Given the description of an element on the screen output the (x, y) to click on. 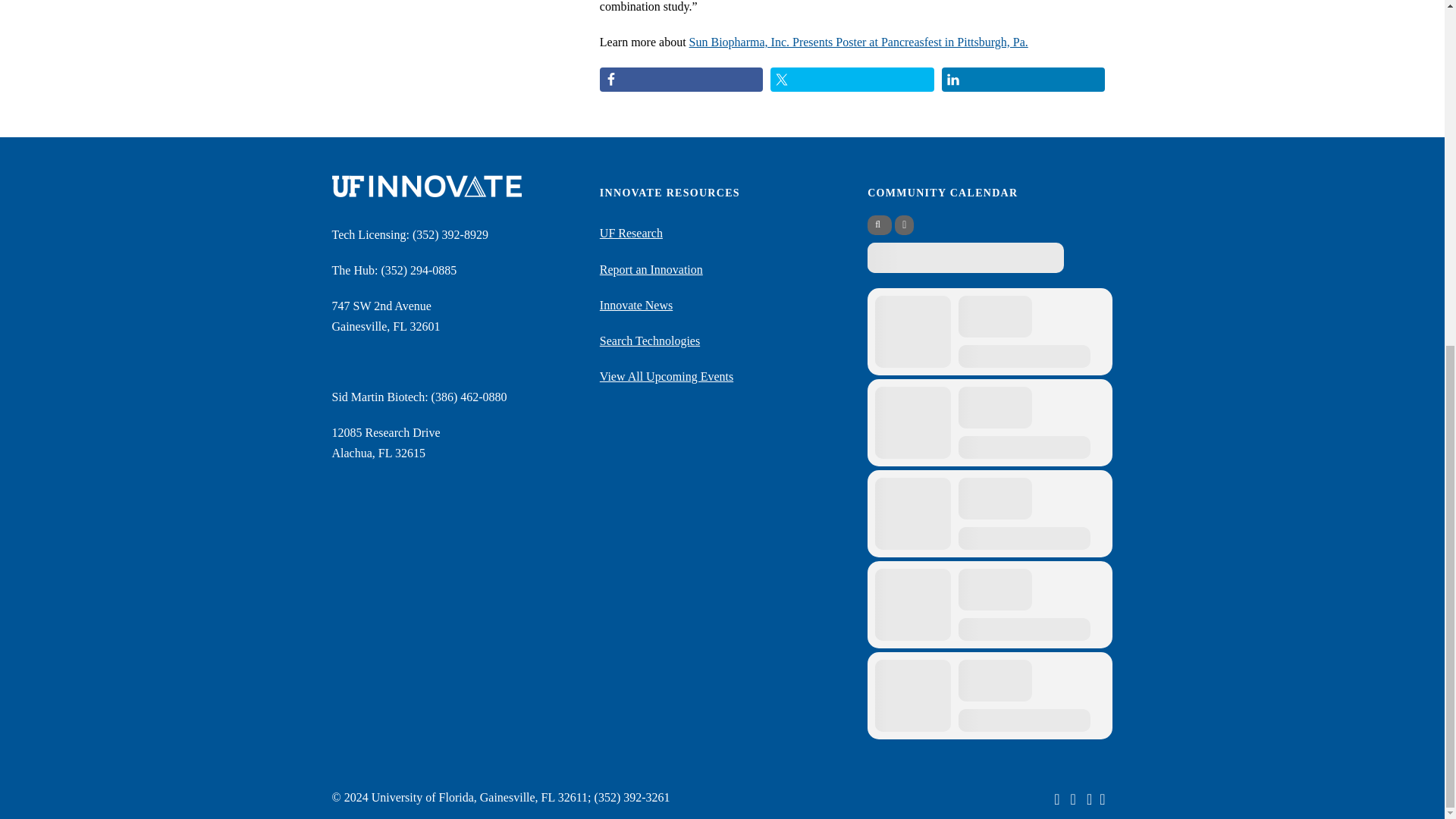
Share on Facebook (680, 79)
Share on Twitter (852, 79)
Share on LinkedIn (1023, 79)
